Given the description of an element on the screen output the (x, y) to click on. 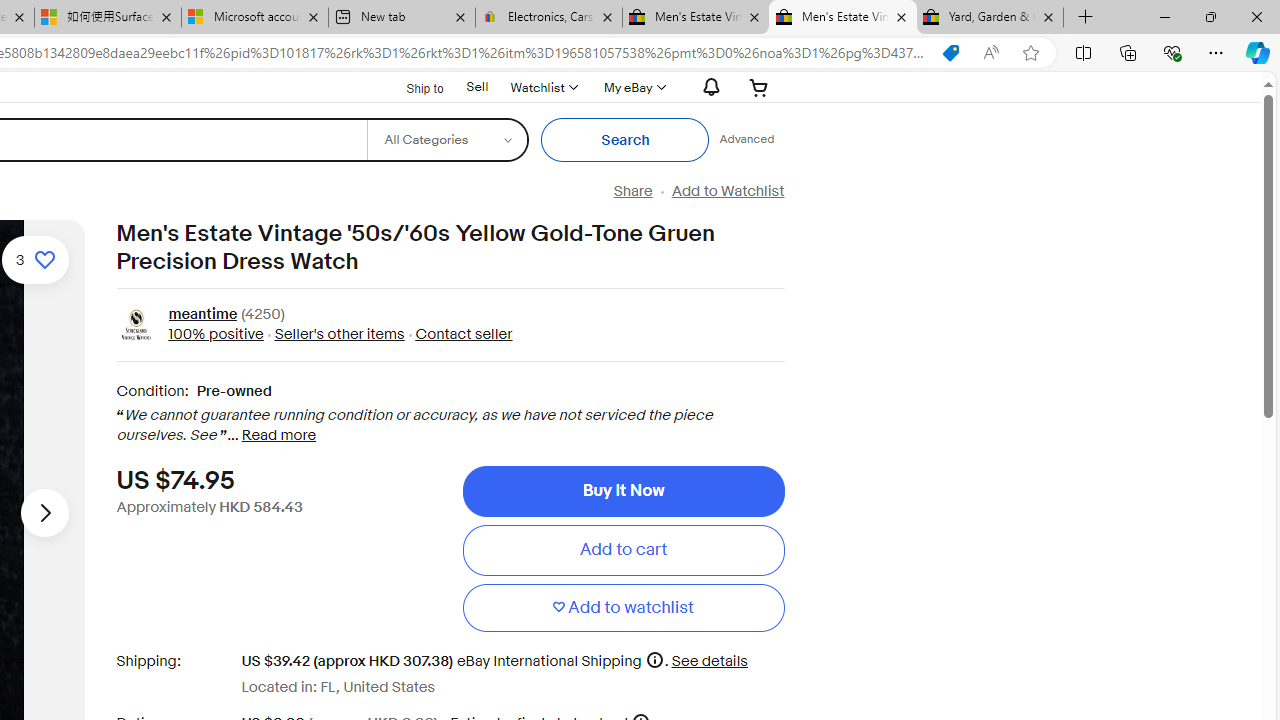
  Seller's other items (333, 334)
AutomationID: gh-eb-Alerts (708, 87)
Add to cart (623, 550)
Buy It Now (623, 490)
This site has coupons! Shopping in Microsoft Edge (950, 53)
Ship to (412, 85)
Select a category for search (447, 139)
Share (632, 191)
Add to watchlist (623, 607)
Add to watchlist (623, 607)
Add to cart (623, 550)
